Given the description of an element on the screen output the (x, y) to click on. 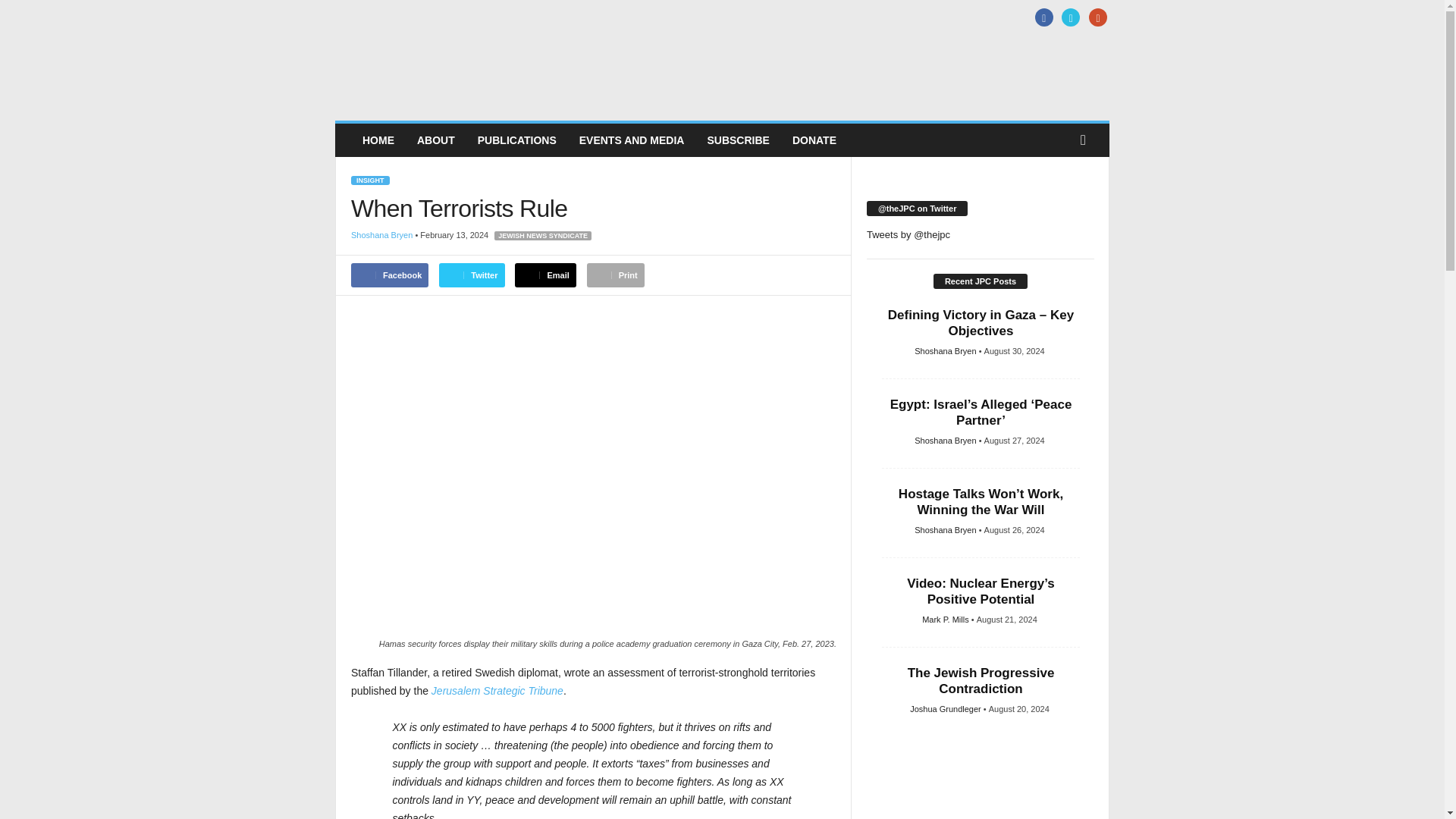
Youtube (1095, 18)
SUBSCRIBE (737, 140)
ABOUT (435, 140)
Jewish Policy Center (437, 70)
HOME (378, 140)
PUBLICATIONS (516, 140)
Twitter (1069, 18)
Facebook (1041, 18)
DONATE (813, 140)
EVENTS AND MEDIA (631, 140)
